Given the description of an element on the screen output the (x, y) to click on. 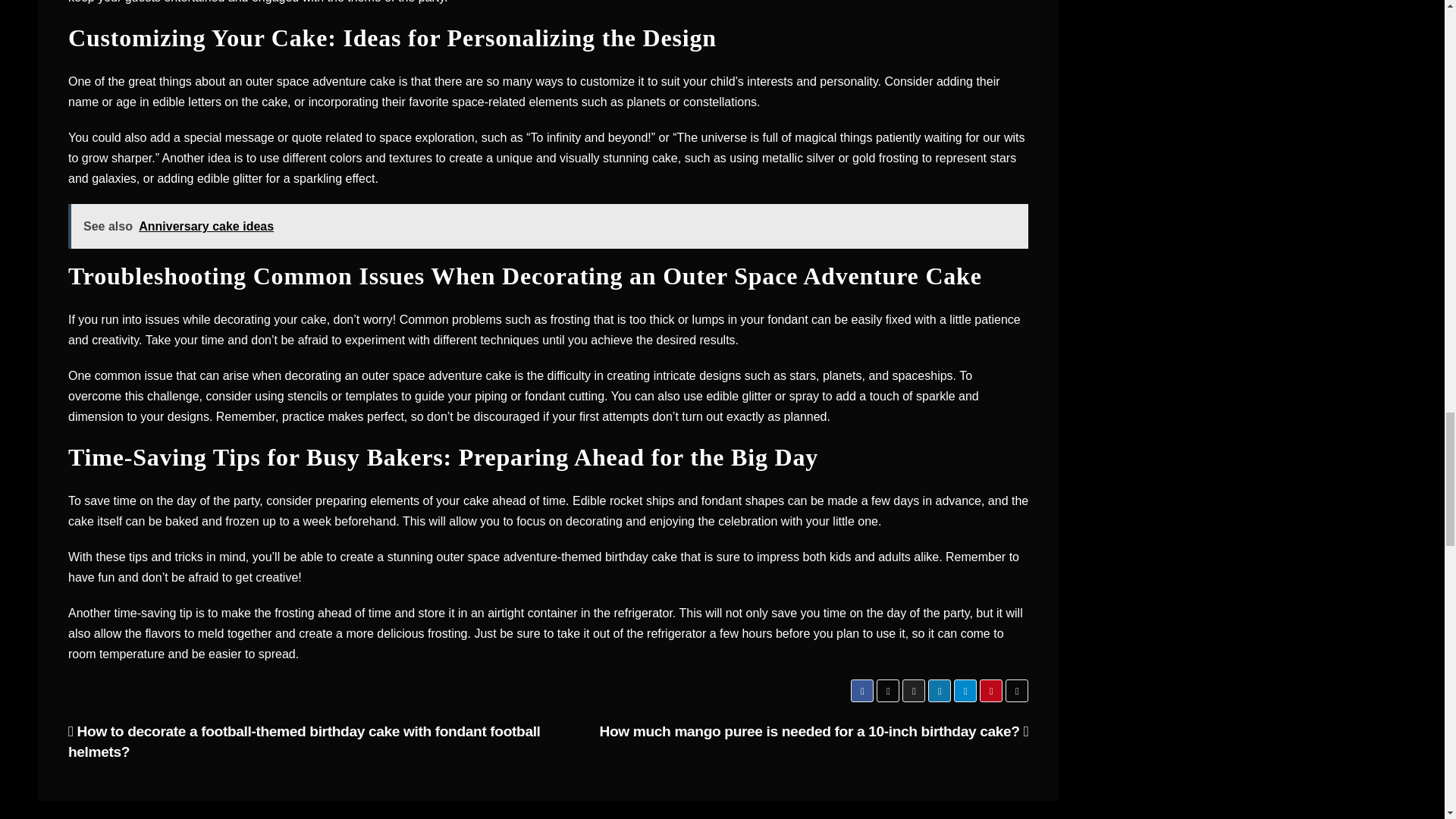
How much mango puree is needed for a 10-inch birthday cake? (812, 731)
See also  Anniversary cake ideas (547, 225)
